Given the description of an element on the screen output the (x, y) to click on. 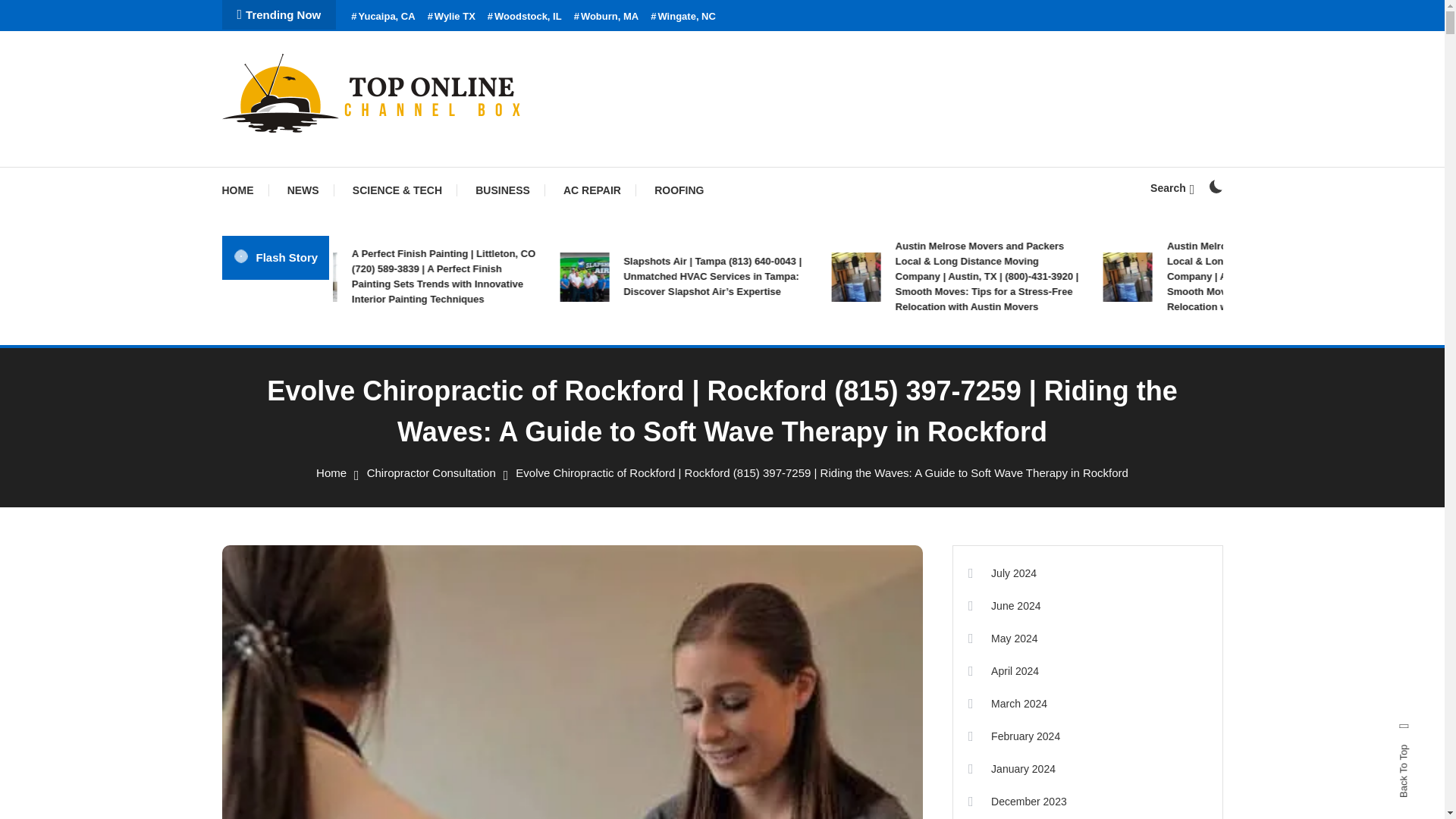
Woburn, MA (606, 16)
HOME (244, 189)
Yucaipa, CA (382, 16)
Search (1171, 187)
Wingate, NC (683, 16)
Chiropractor Consultation (431, 472)
Woodstock, IL (524, 16)
NEWS (303, 189)
Wylie TX (452, 16)
BUSINESS (502, 189)
Home (330, 472)
AC REPAIR (592, 189)
ROOFING (679, 189)
Search (768, 434)
on (1215, 186)
